Given the description of an element on the screen output the (x, y) to click on. 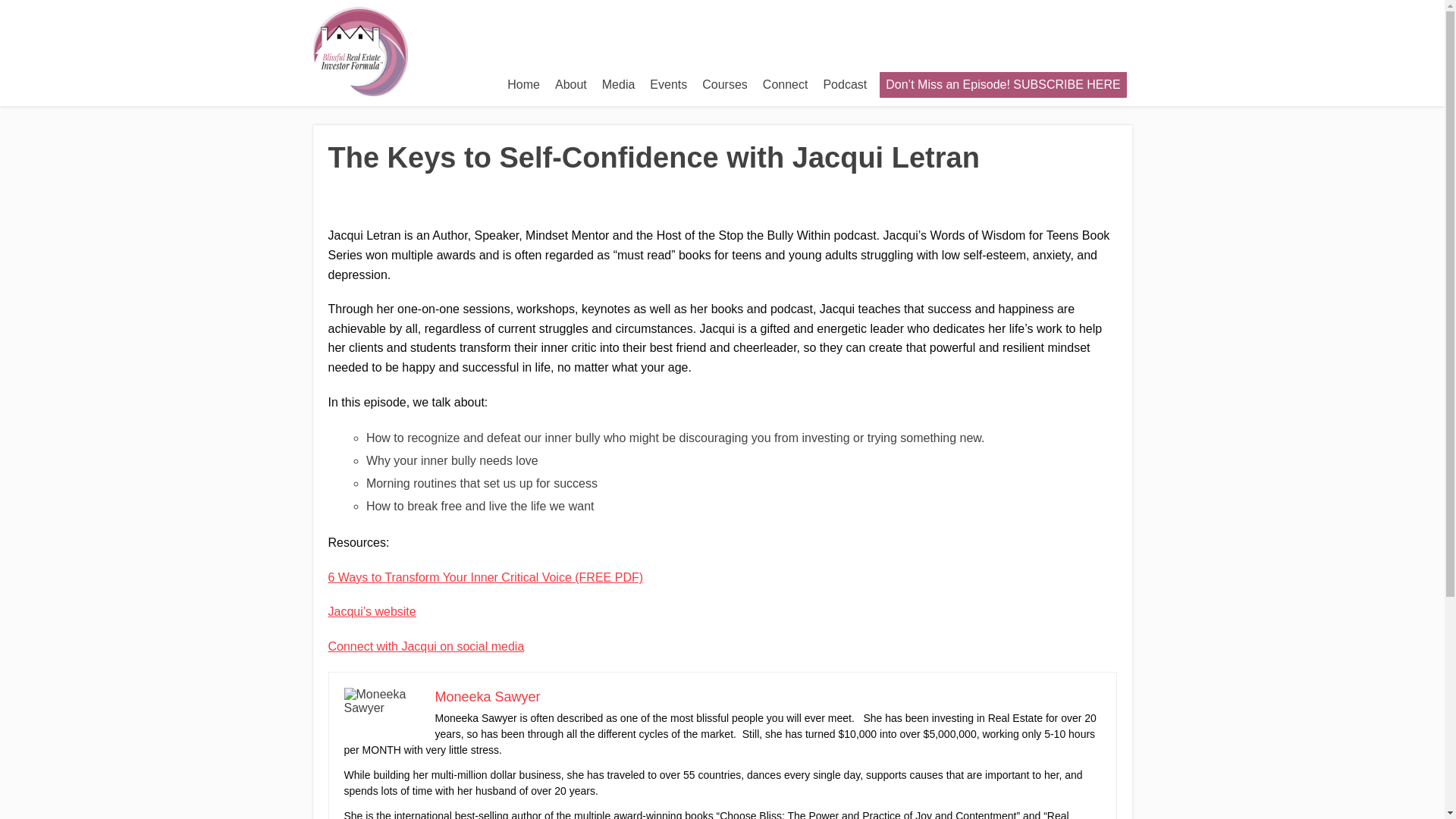
Courses (724, 84)
Podcast (845, 84)
Connect (785, 84)
Home (523, 84)
Events (668, 84)
About (570, 84)
Moneeka Sawyer (487, 696)
Media (618, 84)
Connect with Jacqui on social media (425, 645)
